Given the description of an element on the screen output the (x, y) to click on. 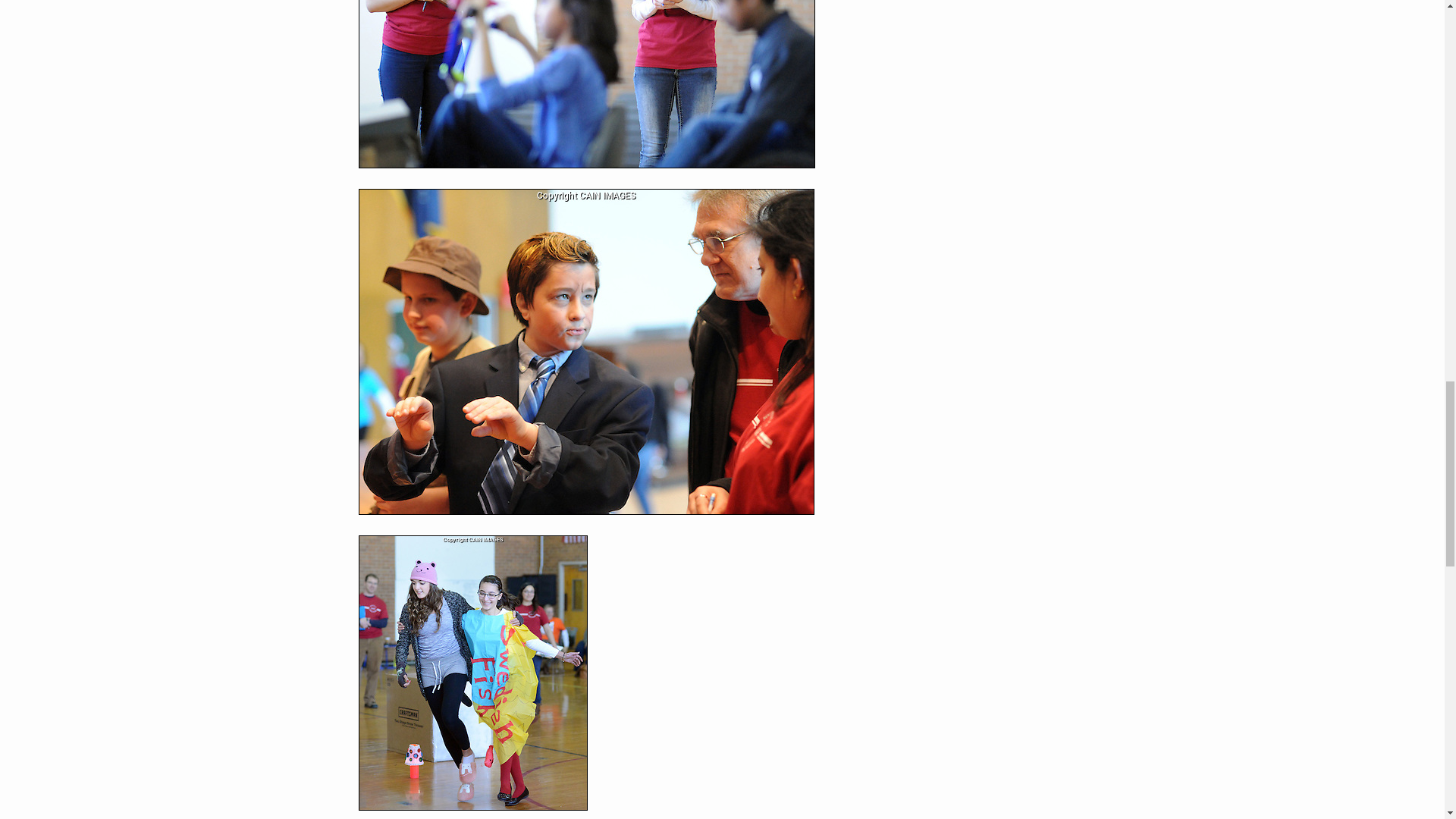
Southeast Pennsylvania Odyssey of the Mind tournament (585, 84)
